Given the description of an element on the screen output the (x, y) to click on. 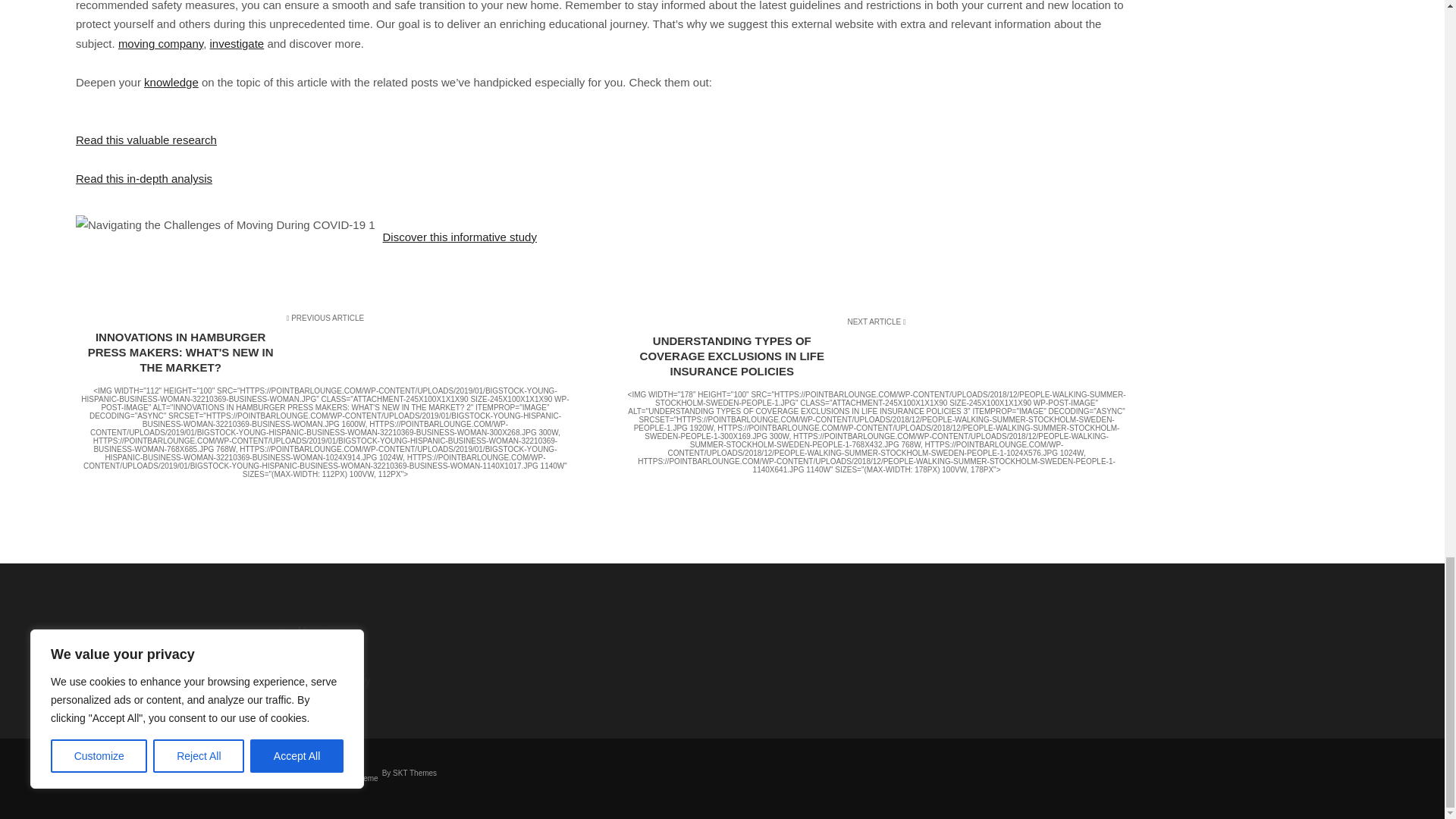
moving company (160, 42)
knowledge (171, 82)
Discover this informative study (459, 236)
Read this in-depth analysis (143, 178)
investigate (236, 42)
Read this valuable research (145, 139)
